Given the description of an element on the screen output the (x, y) to click on. 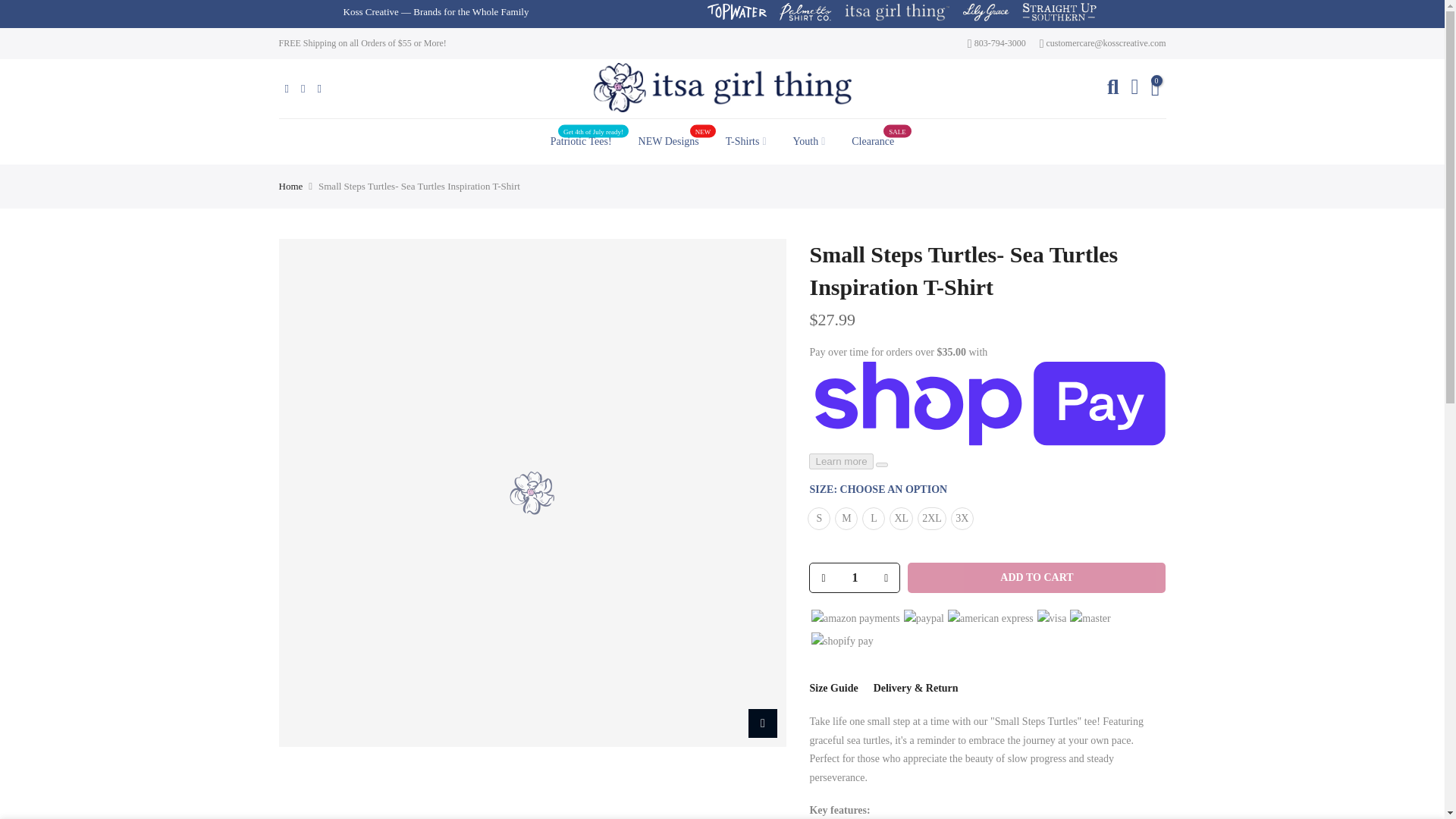
Size Guide (833, 687)
1 (872, 141)
Youth (854, 577)
ADD TO CART (808, 141)
Home (580, 141)
T-Shirts (667, 141)
